Given the description of an element on the screen output the (x, y) to click on. 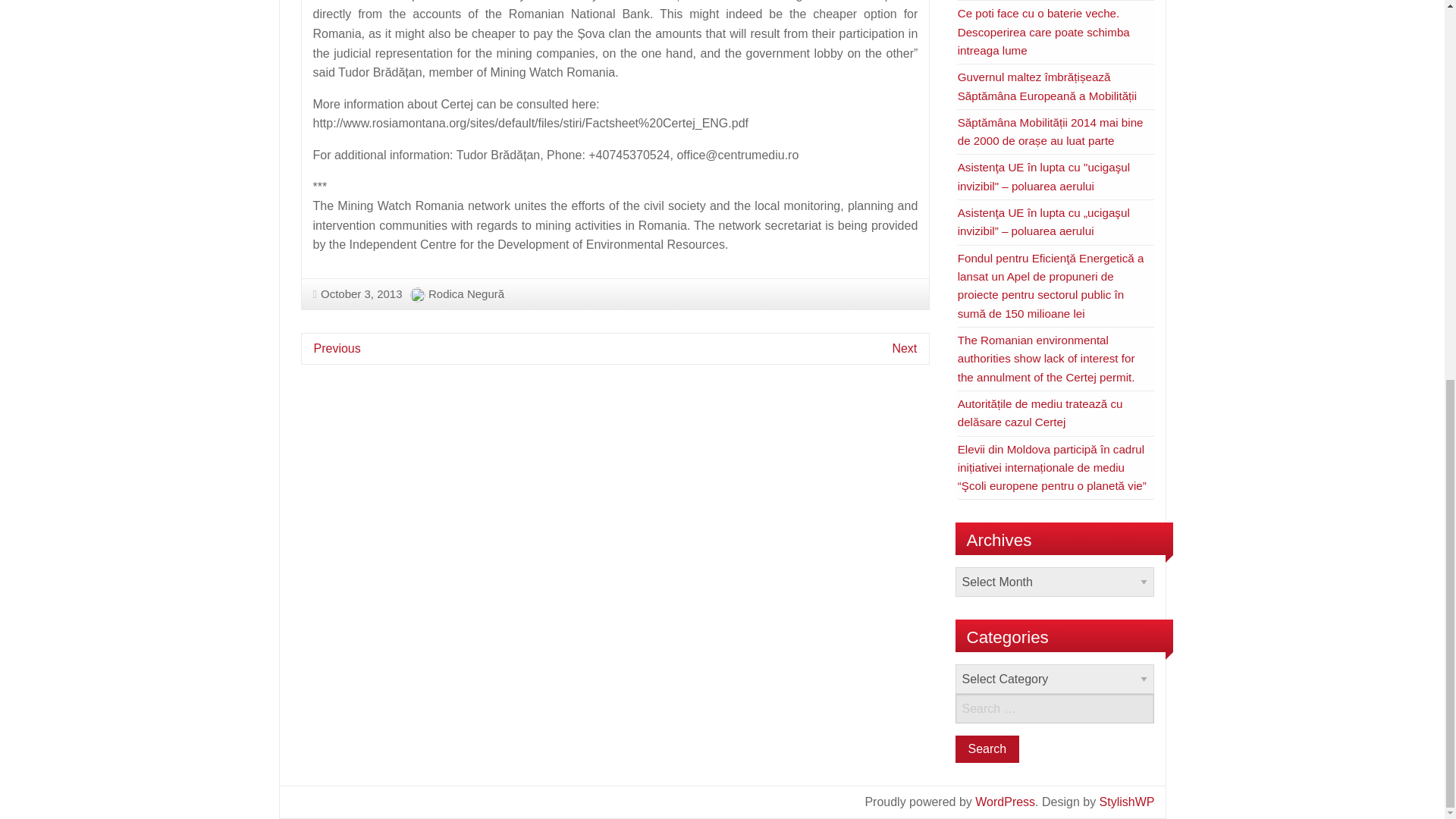
October 3, 2013 (357, 293)
Previous (337, 348)
Search (987, 748)
Next (904, 348)
Search (987, 748)
